Given the description of an element on the screen output the (x, y) to click on. 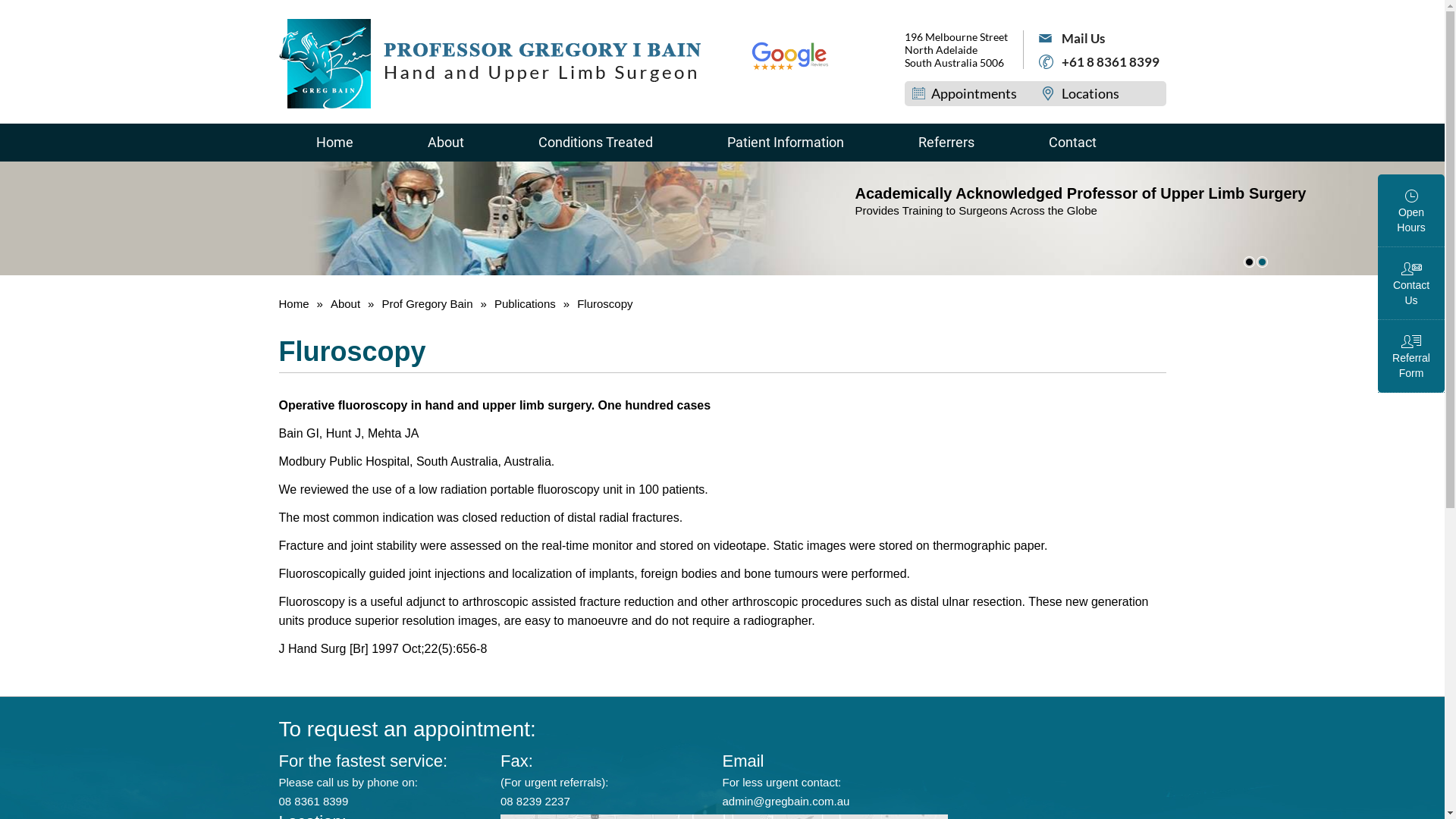
Open
Hours Element type: text (1410, 210)
About Element type: text (345, 303)
Referrers Element type: text (946, 142)
Contact
Us Element type: text (1410, 283)
Conditions Treated Element type: text (594, 142)
Contact Element type: text (1072, 142)
Locations Element type: text (1077, 92)
admin@gregbain.com.au Element type: text (785, 800)
Appointments Element type: text (959, 92)
About Element type: text (444, 142)
Home Element type: text (295, 303)
Publications Element type: text (526, 303)
Mail Us Element type: text (1098, 38)
+61 8 8361 8399 Element type: text (1098, 61)
Patient Information Element type: text (785, 142)
Referral
Form Element type: text (1410, 356)
Home Element type: text (334, 142)
